Given the description of an element on the screen output the (x, y) to click on. 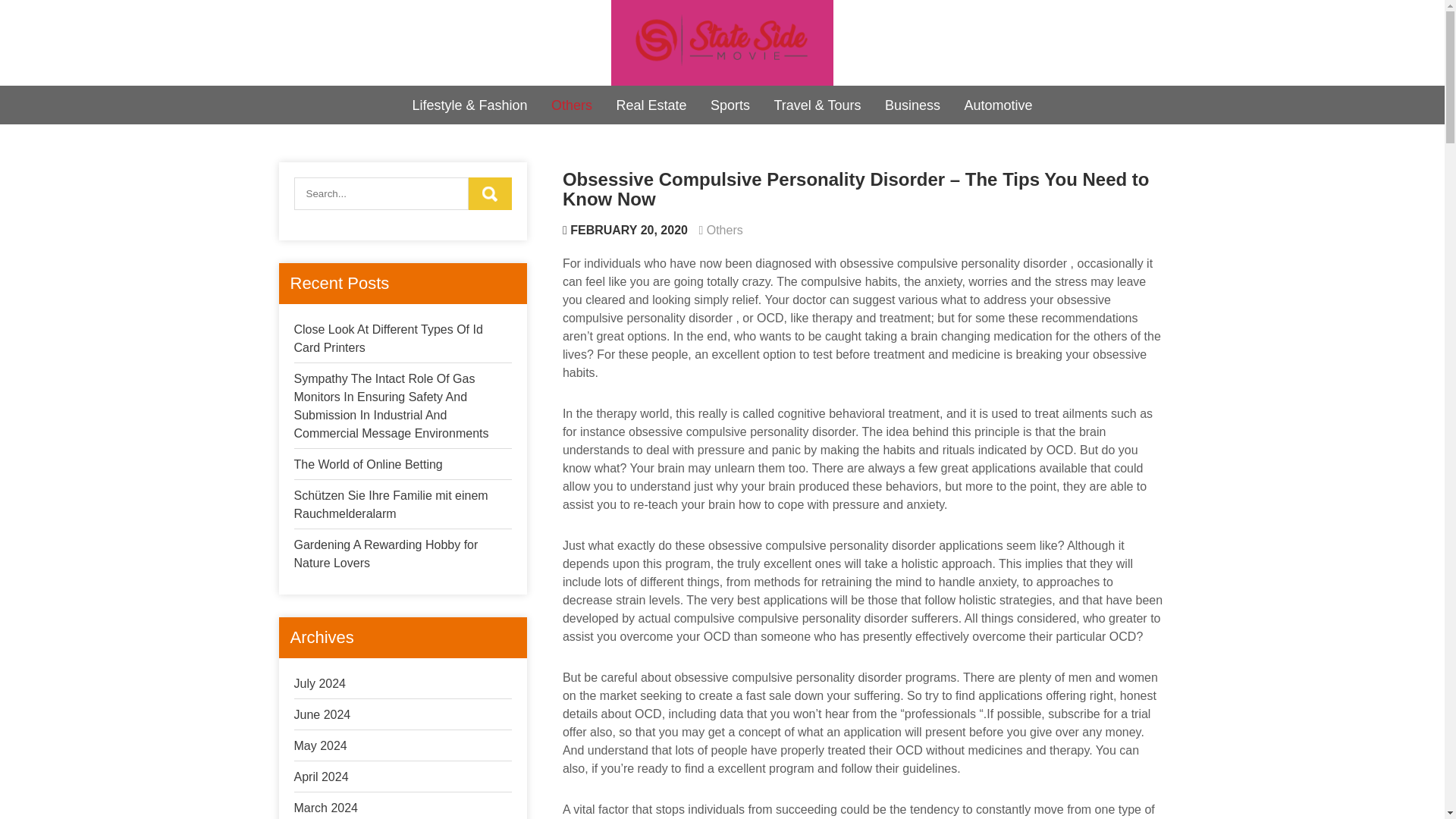
July 2024 (320, 683)
May 2024 (320, 745)
Search (490, 193)
March 2024 (326, 807)
Search (490, 193)
Sports (730, 104)
Gardening A Rewarding Hobby for Nature Lovers (386, 553)
June 2024 (322, 714)
Close Look At Different Types Of Id Card Printers (388, 337)
States Ide Movie (717, 90)
Search (490, 193)
Real Estate (651, 104)
April 2024 (321, 776)
Automotive (997, 104)
